Given the description of an element on the screen output the (x, y) to click on. 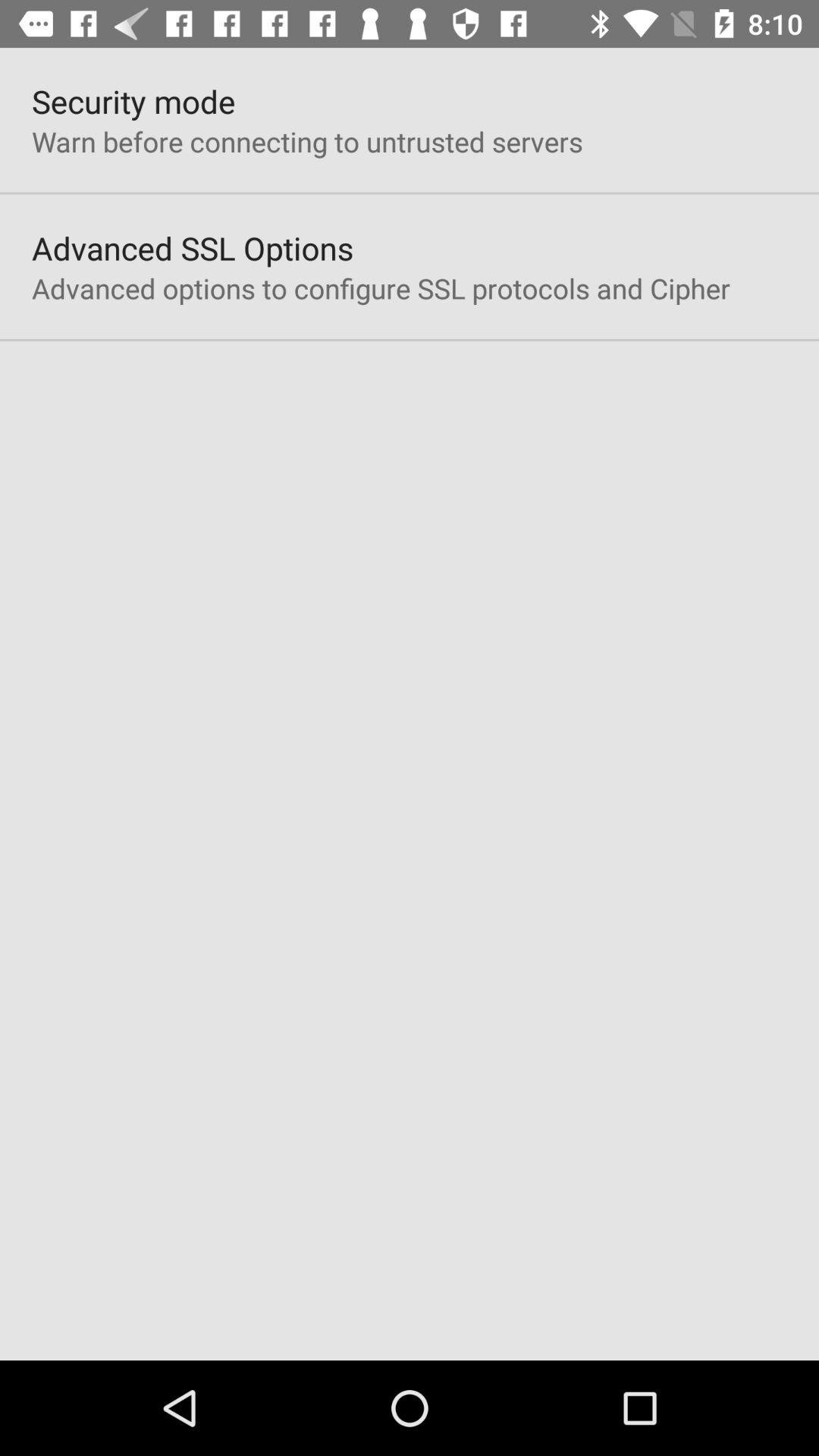
flip until warn before connecting icon (306, 141)
